Given the description of an element on the screen output the (x, y) to click on. 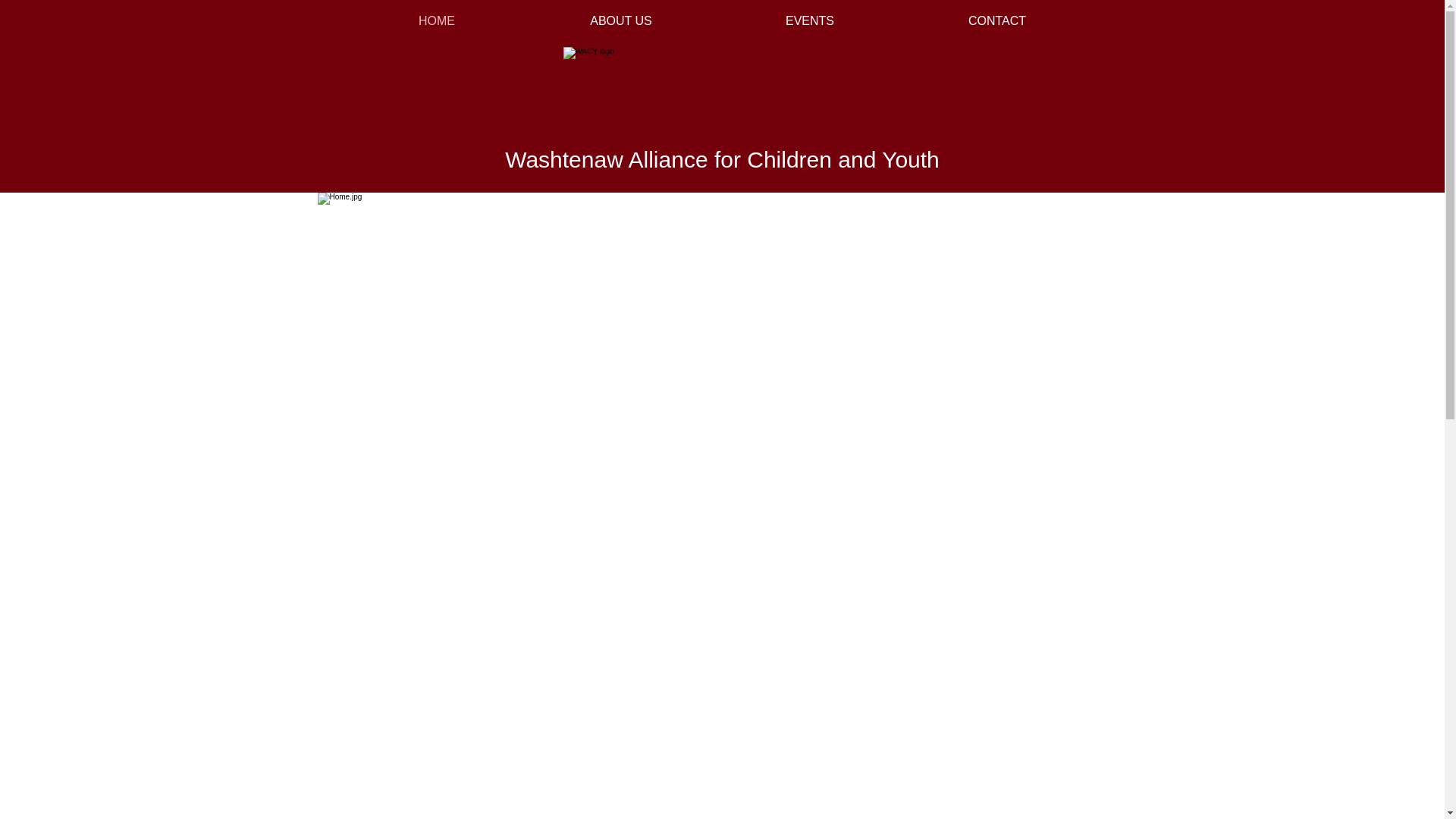
ABOUT US (620, 21)
HOME (436, 21)
CONTACT (997, 21)
EVENTS (809, 21)
